Given the description of an element on the screen output the (x, y) to click on. 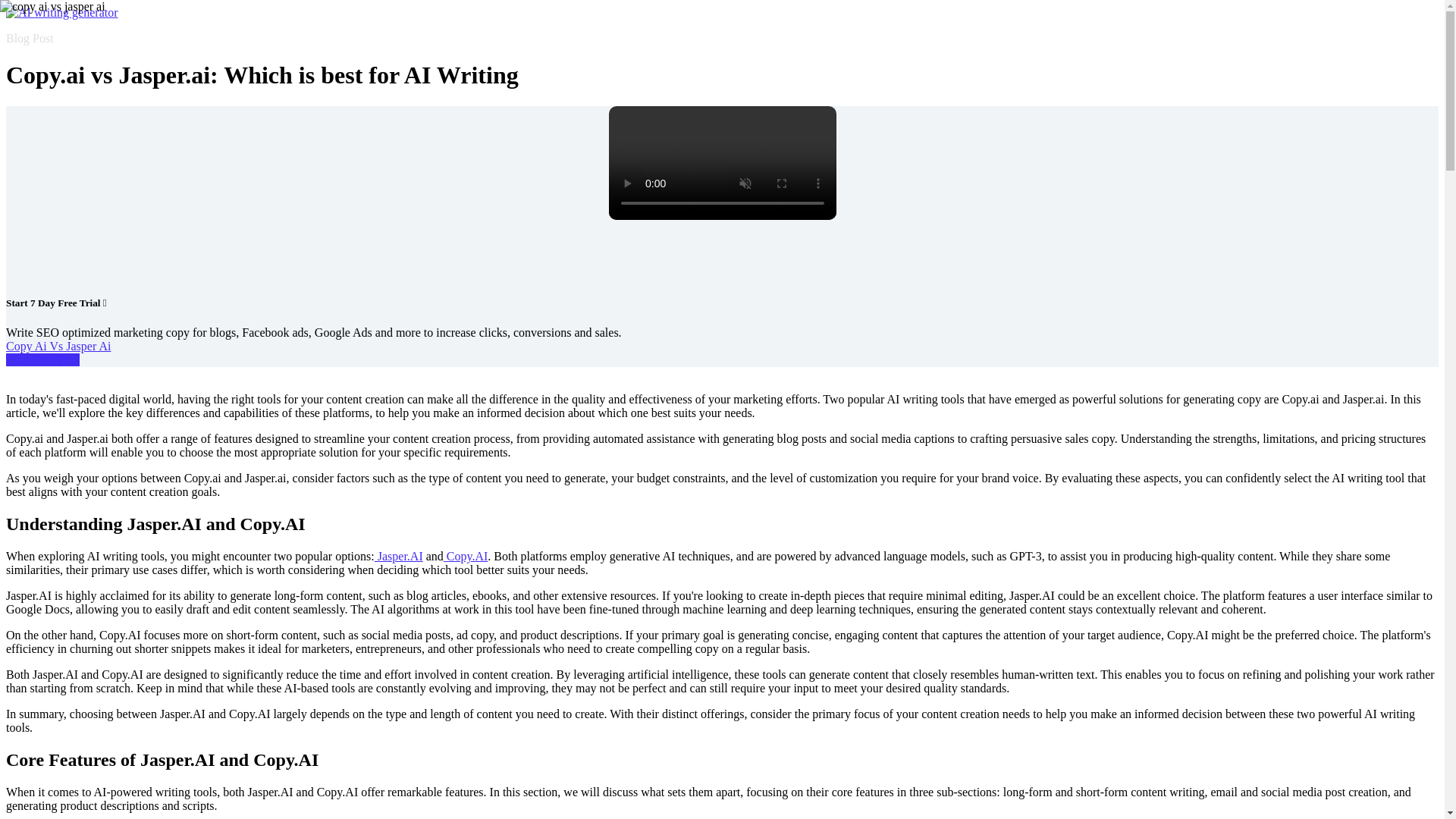
Copy Ai Vs Jasper Ai (57, 345)
 Copy.AI (465, 555)
 Jasper.AI (398, 555)
Start Free Trial (42, 359)
